Given the description of an element on the screen output the (x, y) to click on. 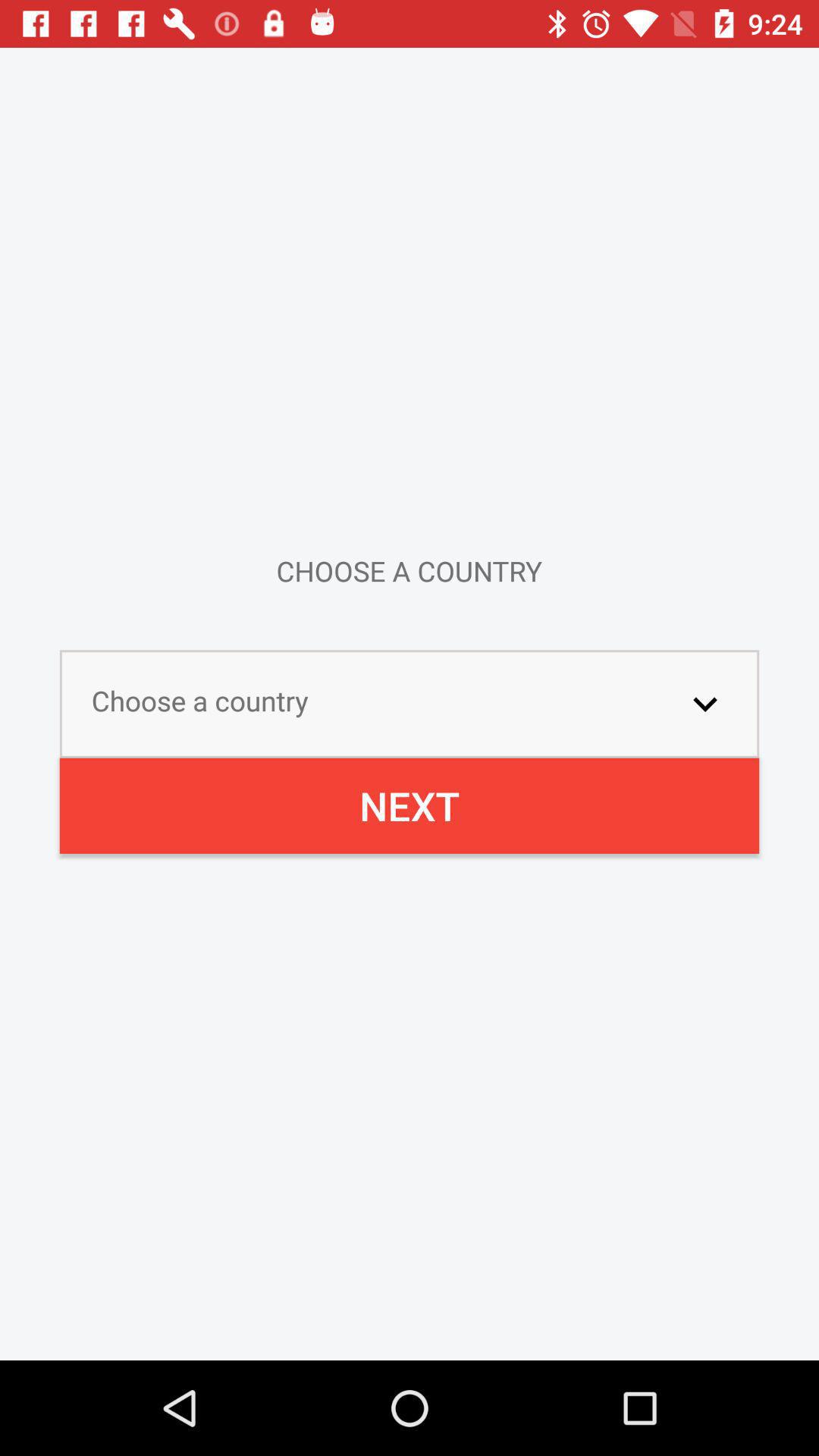
launch the icon above the next icon (705, 704)
